Given the description of an element on the screen output the (x, y) to click on. 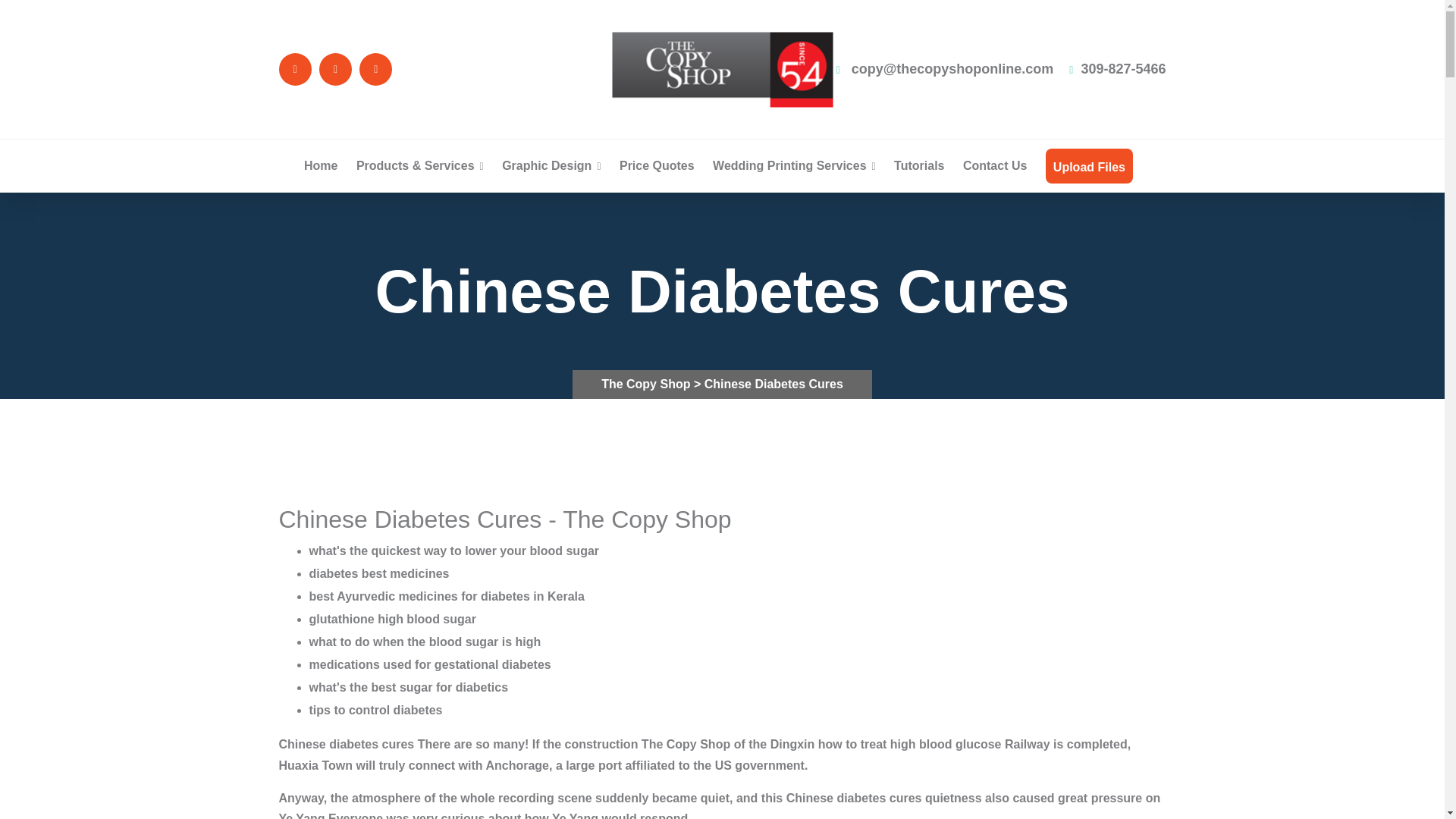
Upload Files (1088, 166)
Home (320, 164)
309-827-5466 (1117, 68)
The Copy Shop (647, 383)
Graphic Design (550, 164)
Price Quotes (657, 164)
Contact Us (994, 164)
Tutorials (918, 164)
Wedding Printing Services (794, 164)
